Given the description of an element on the screen output the (x, y) to click on. 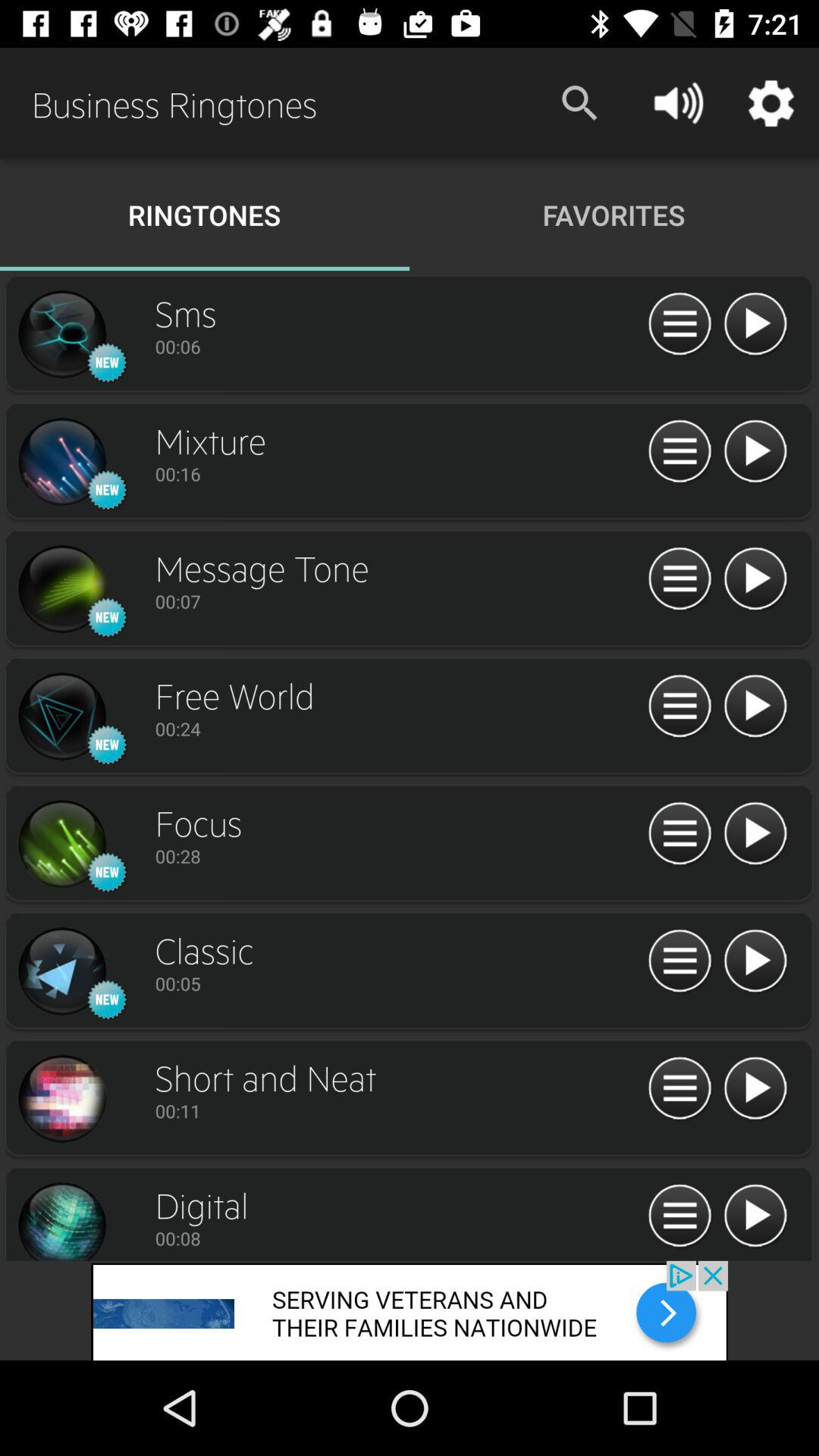
click the mixture icon (61, 462)
